Given the description of an element on the screen output the (x, y) to click on. 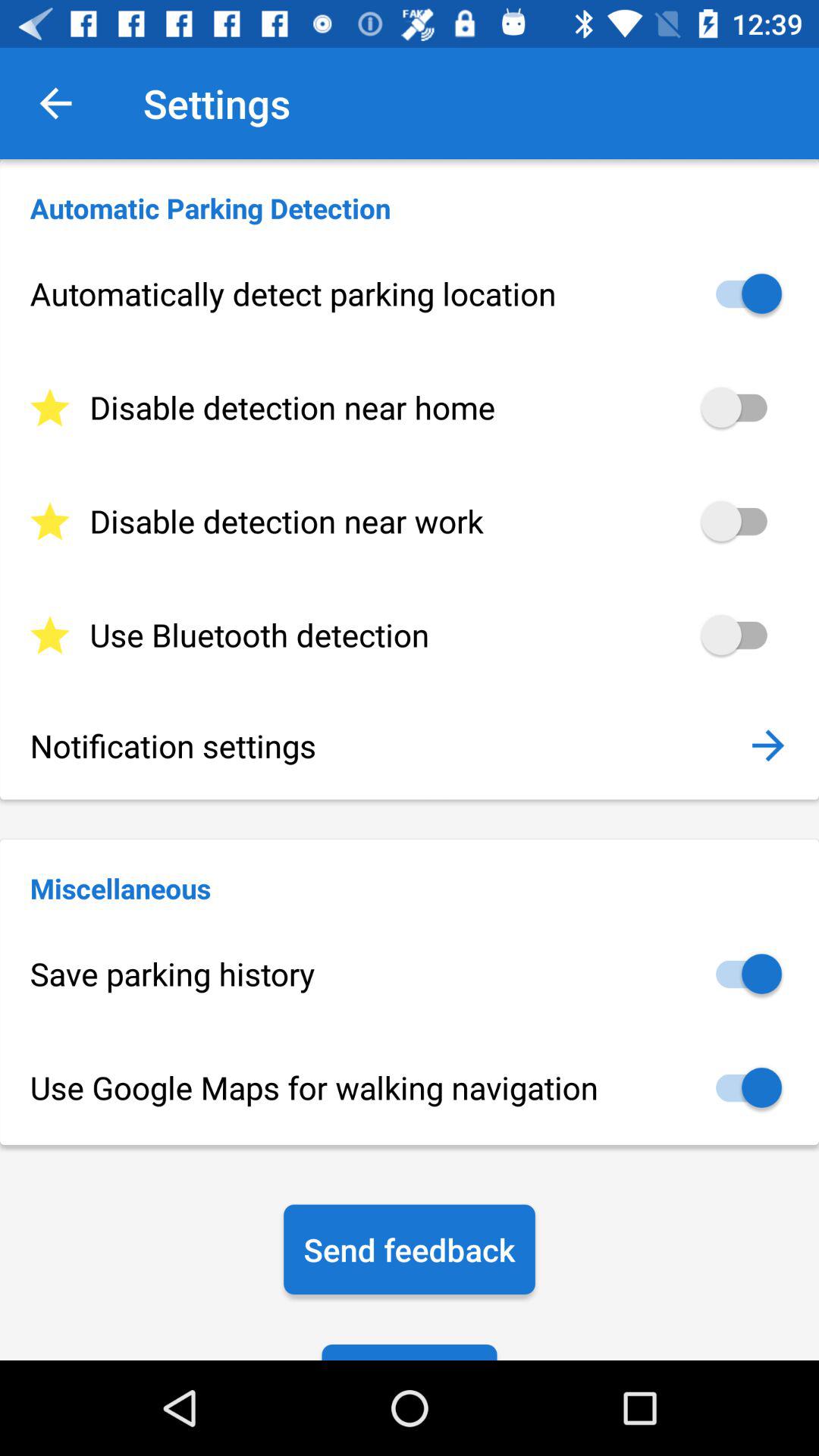
select the icon below use bluetooth detection item (388, 745)
